Given the description of an element on the screen output the (x, y) to click on. 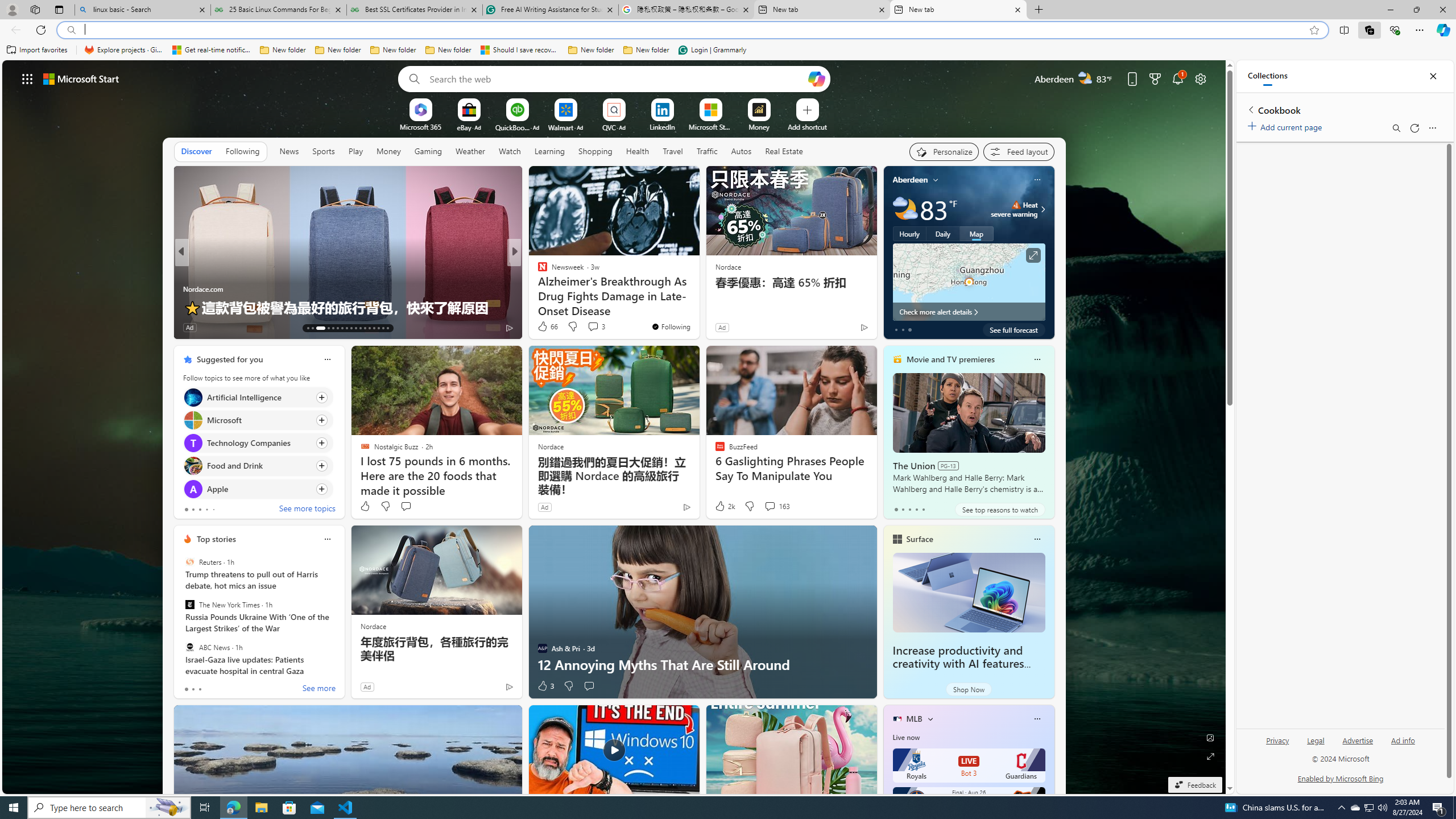
AutomationID: backgroundImagePicture (613, 426)
Heat - Severe Heat severe warning (1014, 208)
34 Like (543, 327)
25 Basic Linux Commands For Beginners - GeeksforGeeks (277, 9)
tom's Hardware (537, 270)
962 Like (545, 327)
View comments 16 Comment (592, 327)
View comments 163 Comment (776, 505)
Food & Wine (537, 270)
See more topics (306, 509)
